Given the description of an element on the screen output the (x, y) to click on. 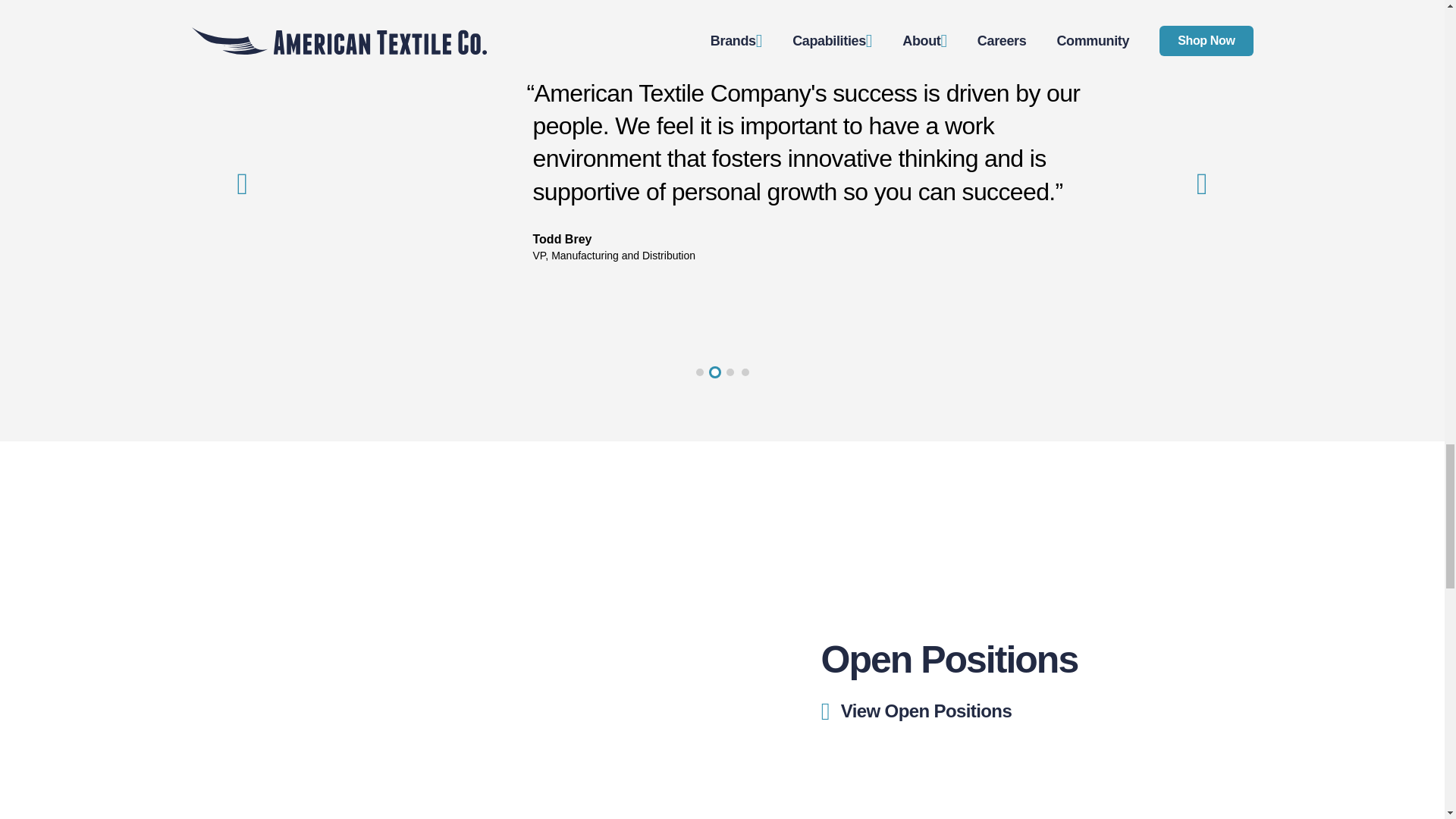
1 (699, 371)
View Open Positions (892, 708)
4 (745, 371)
3 (729, 371)
2 (715, 371)
